Given the description of an element on the screen output the (x, y) to click on. 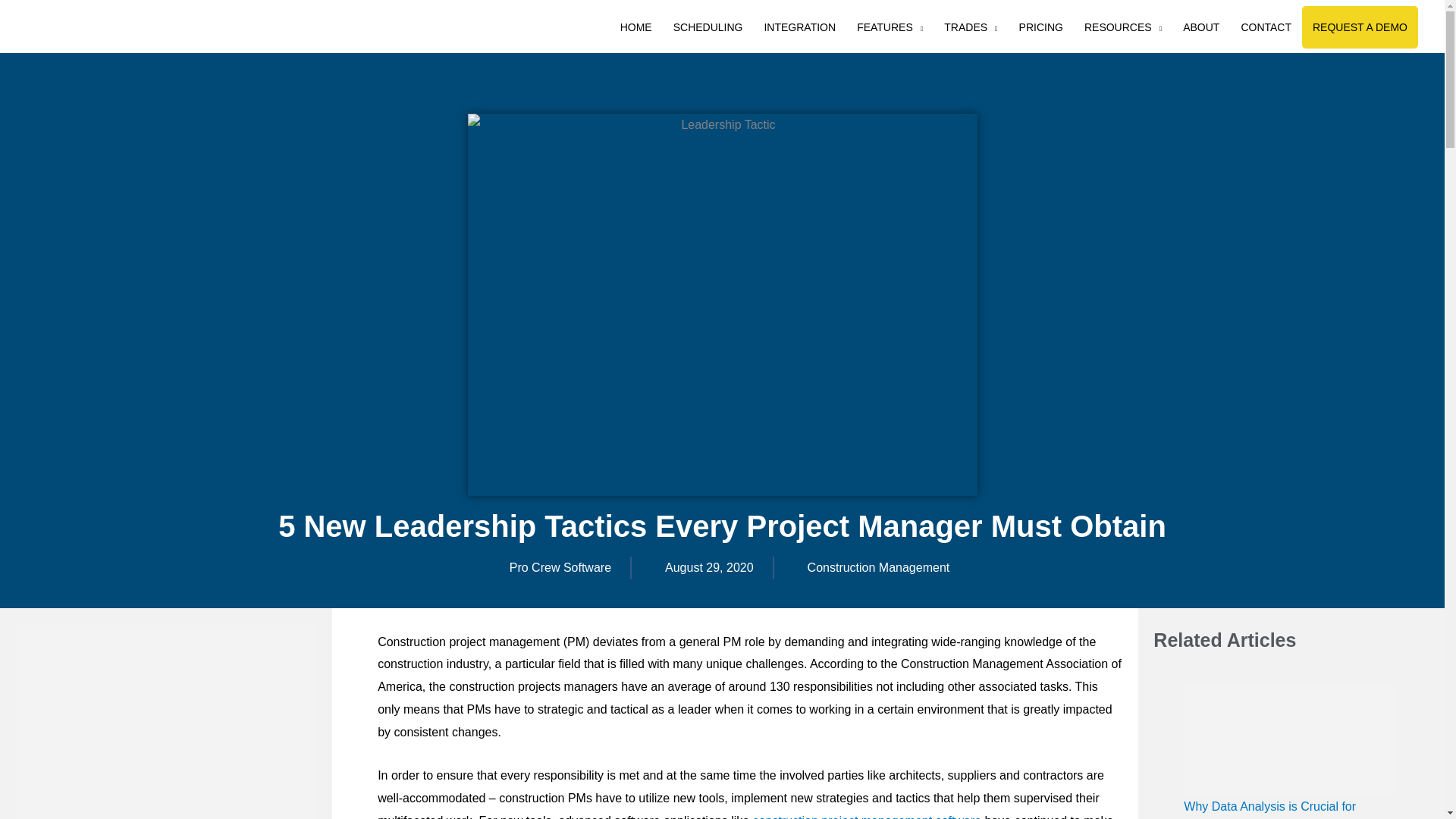
RESOURCES (1123, 26)
TRADES (970, 26)
SCHEDULING (708, 26)
INTEGRATION (798, 26)
HOME (636, 26)
FEATURES (889, 26)
PRICING (1041, 26)
